Given the description of an element on the screen output the (x, y) to click on. 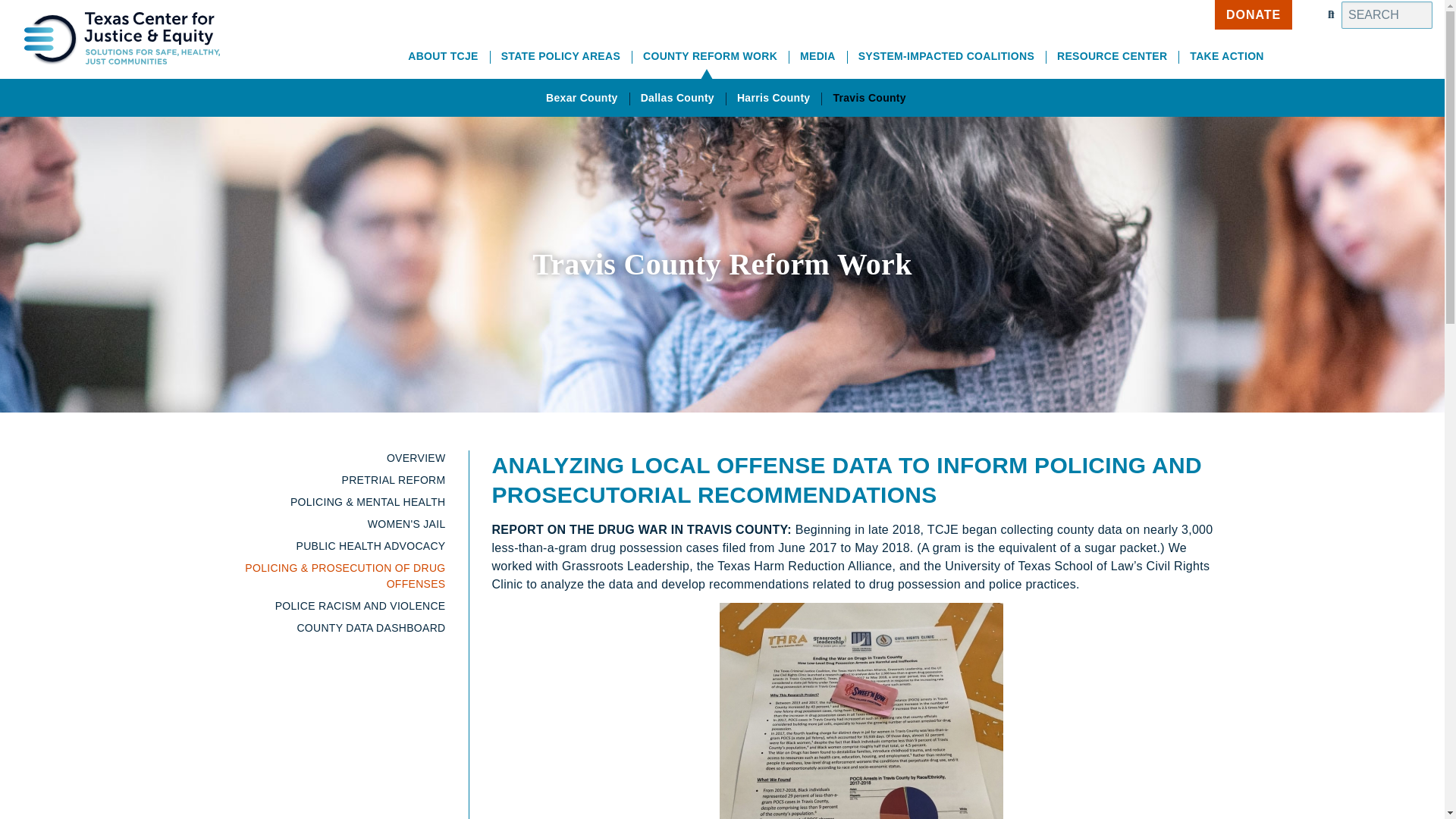
Home (115, 8)
